Given the description of an element on the screen output the (x, y) to click on. 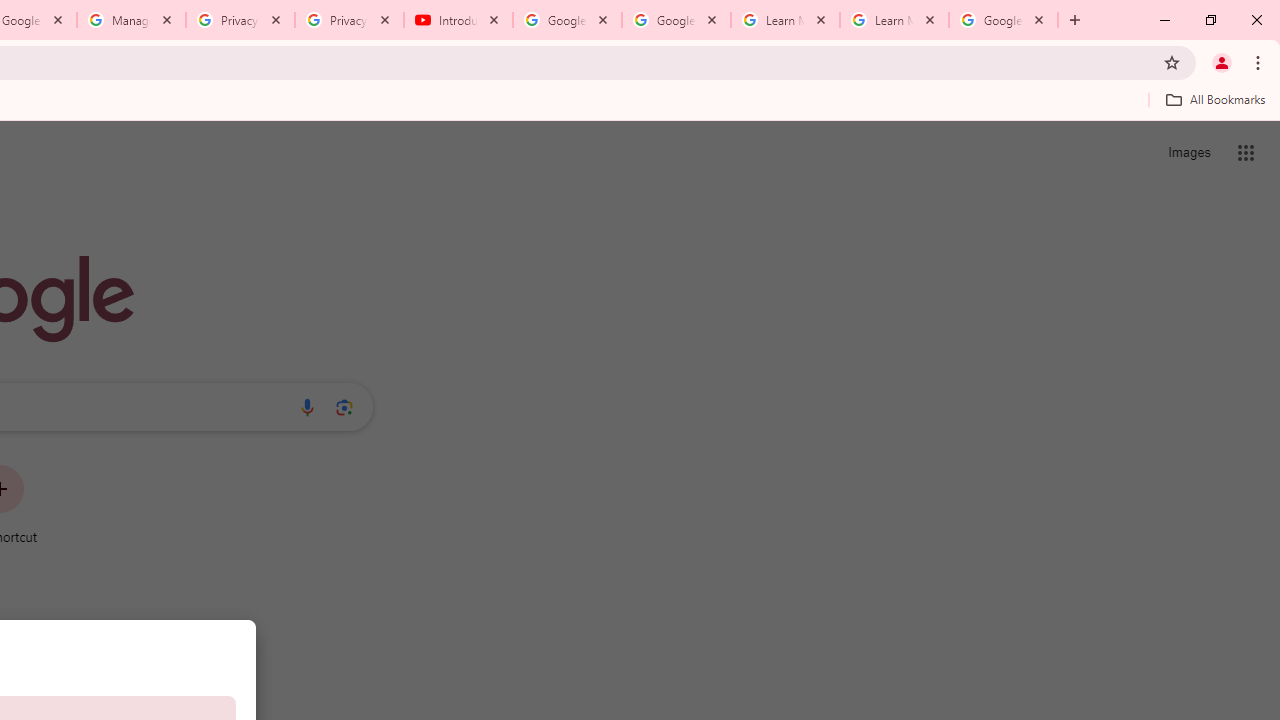
Google Account (1003, 20)
Google Account Help (676, 20)
Introduction | Google Privacy Policy - YouTube (458, 20)
